Given the description of an element on the screen output the (x, y) to click on. 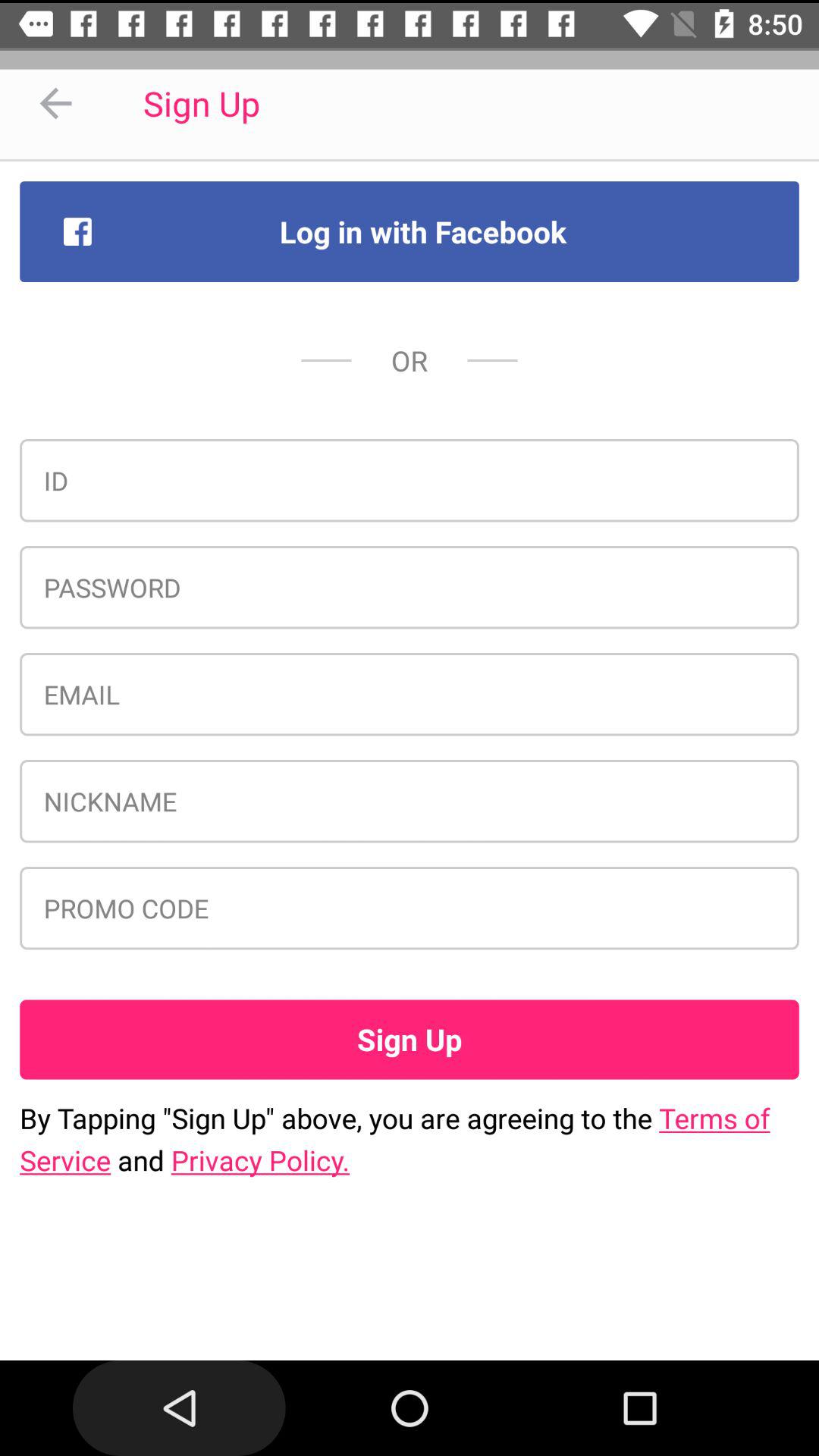
select icon to the left of sign up (55, 103)
